Given the description of an element on the screen output the (x, y) to click on. 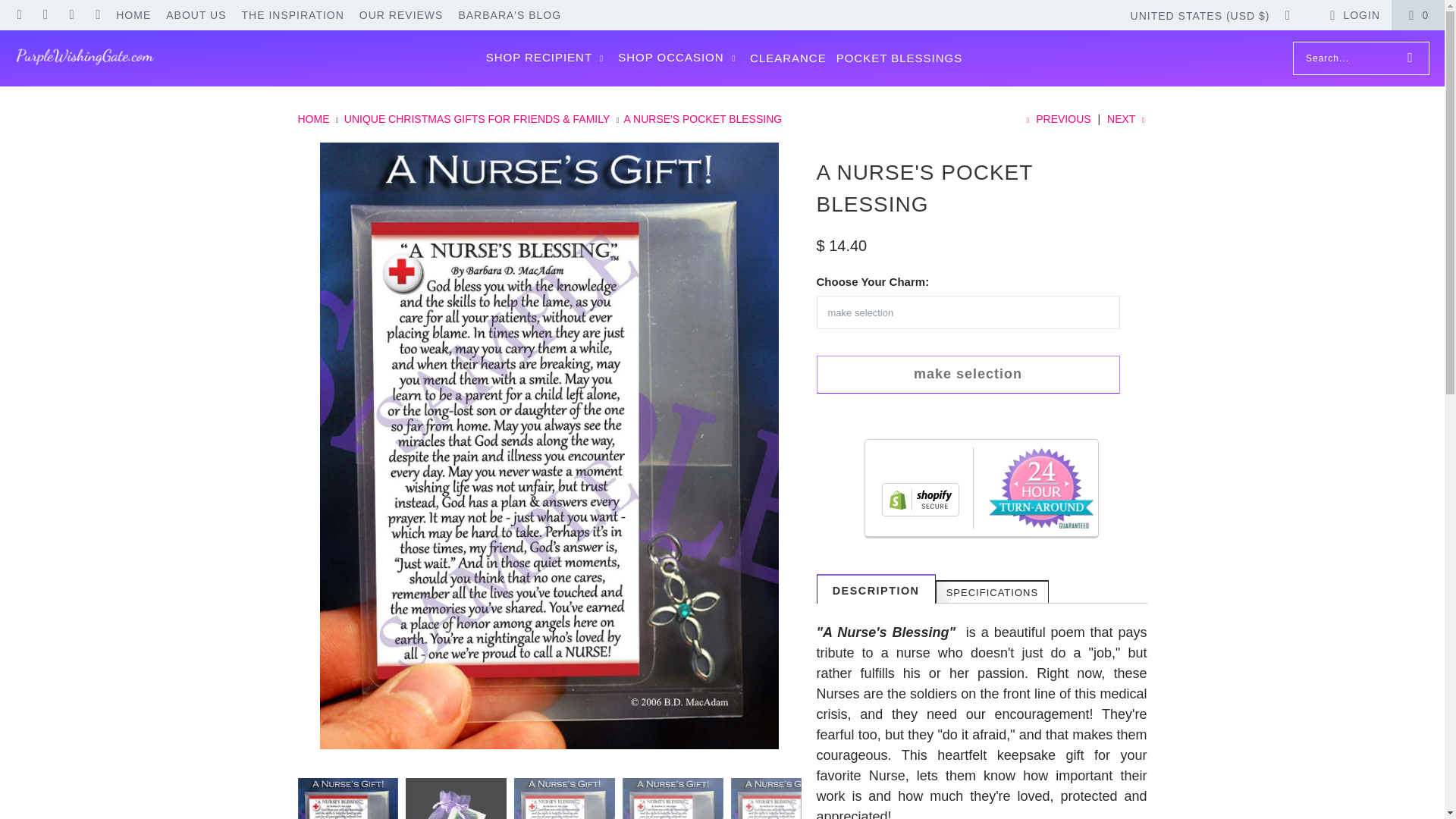
Previous (1056, 119)
Item Ships within 24 Hours (1040, 487)
This Website is Secured by Shopify (920, 499)
PurpleWishingGate.com (314, 119)
PurpleWishingGate.com (84, 57)
Next (1126, 119)
Email PurpleWishingGate.com (18, 15)
My Account  (1352, 14)
PurpleWishingGate.com on Facebook (44, 15)
PurpleWishingGate.com on Pinterest (97, 15)
PurpleWishingGate.com on Instagram (71, 15)
